Given the description of an element on the screen output the (x, y) to click on. 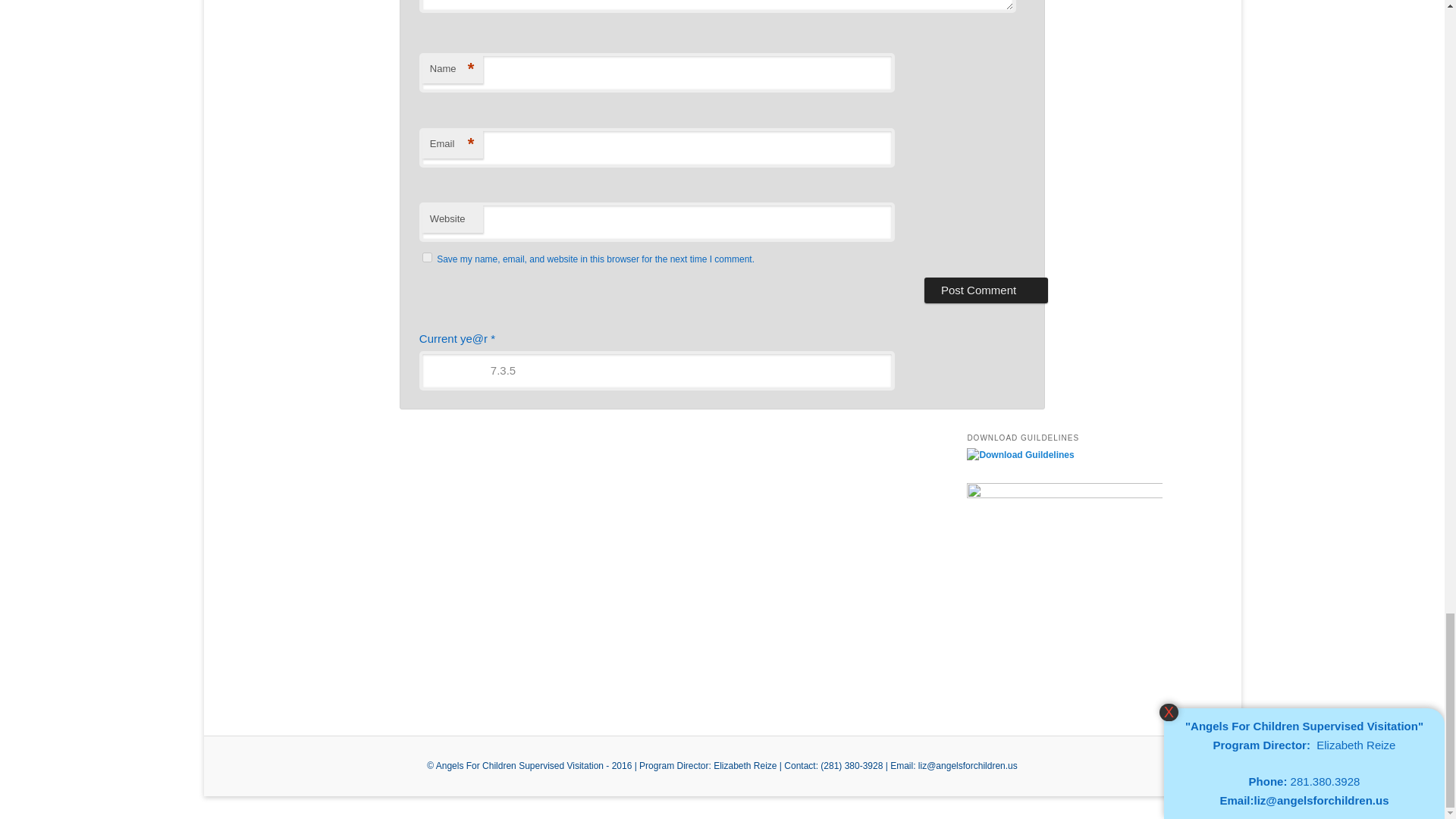
Post Comment (986, 290)
Download Guildelines (1020, 454)
Post Comment (986, 290)
yes (427, 257)
7.3.5 (657, 370)
